Given the description of an element on the screen output the (x, y) to click on. 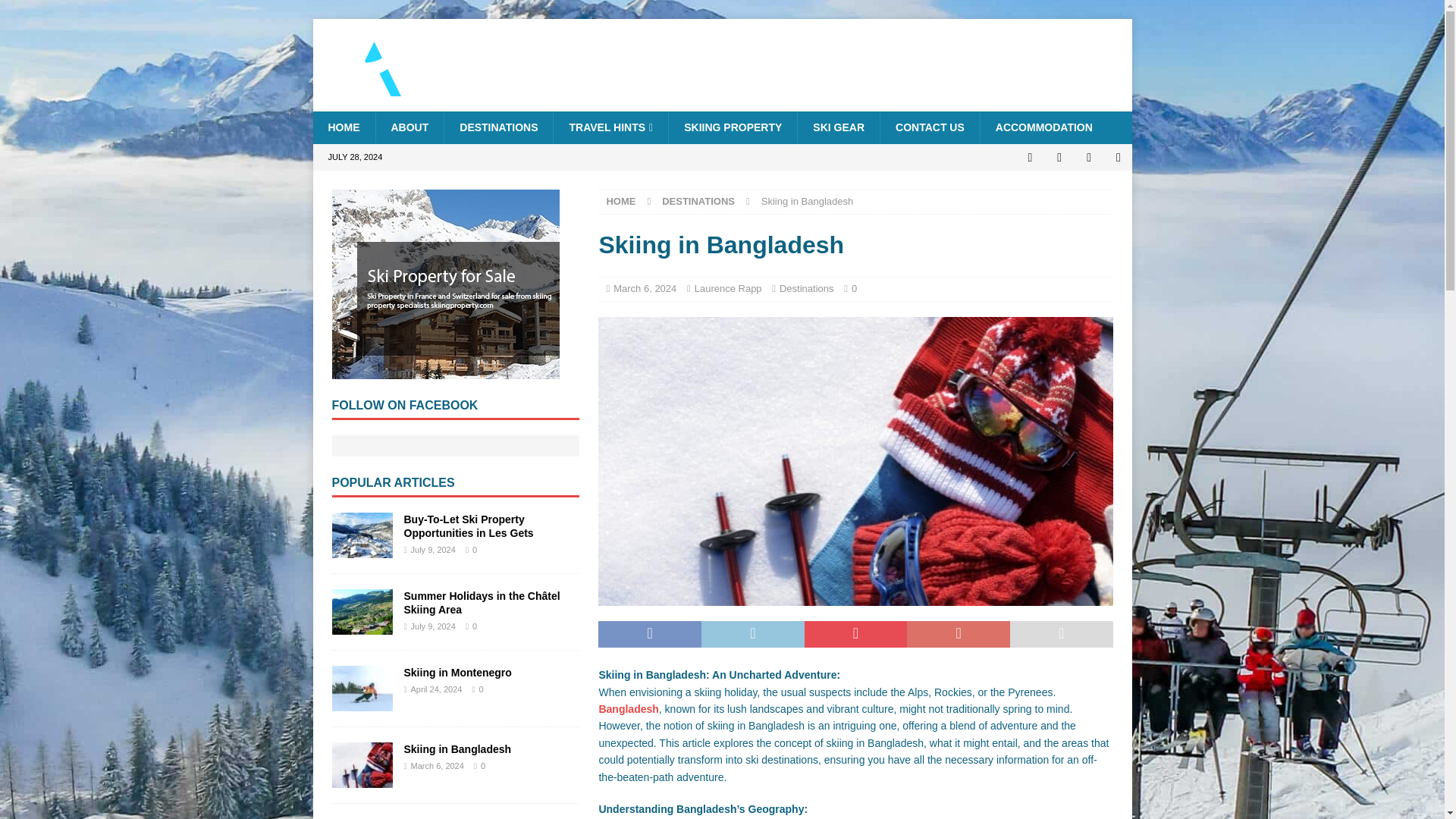
SKIING PROPERTY (732, 127)
ABOUT (409, 127)
HOME (619, 201)
ACCOMMODATION (1043, 127)
DESTINATIONS (498, 127)
SKI GEAR (837, 127)
CONTACT US (929, 127)
0 (854, 288)
DESTINATIONS (698, 201)
Laurence Rapp (727, 288)
TRAVEL HINTS (610, 127)
March 6, 2024 (644, 288)
0 (854, 288)
Buy-To-Let Ski Property Opportunities in Les Gets (362, 549)
